Given the description of an element on the screen output the (x, y) to click on. 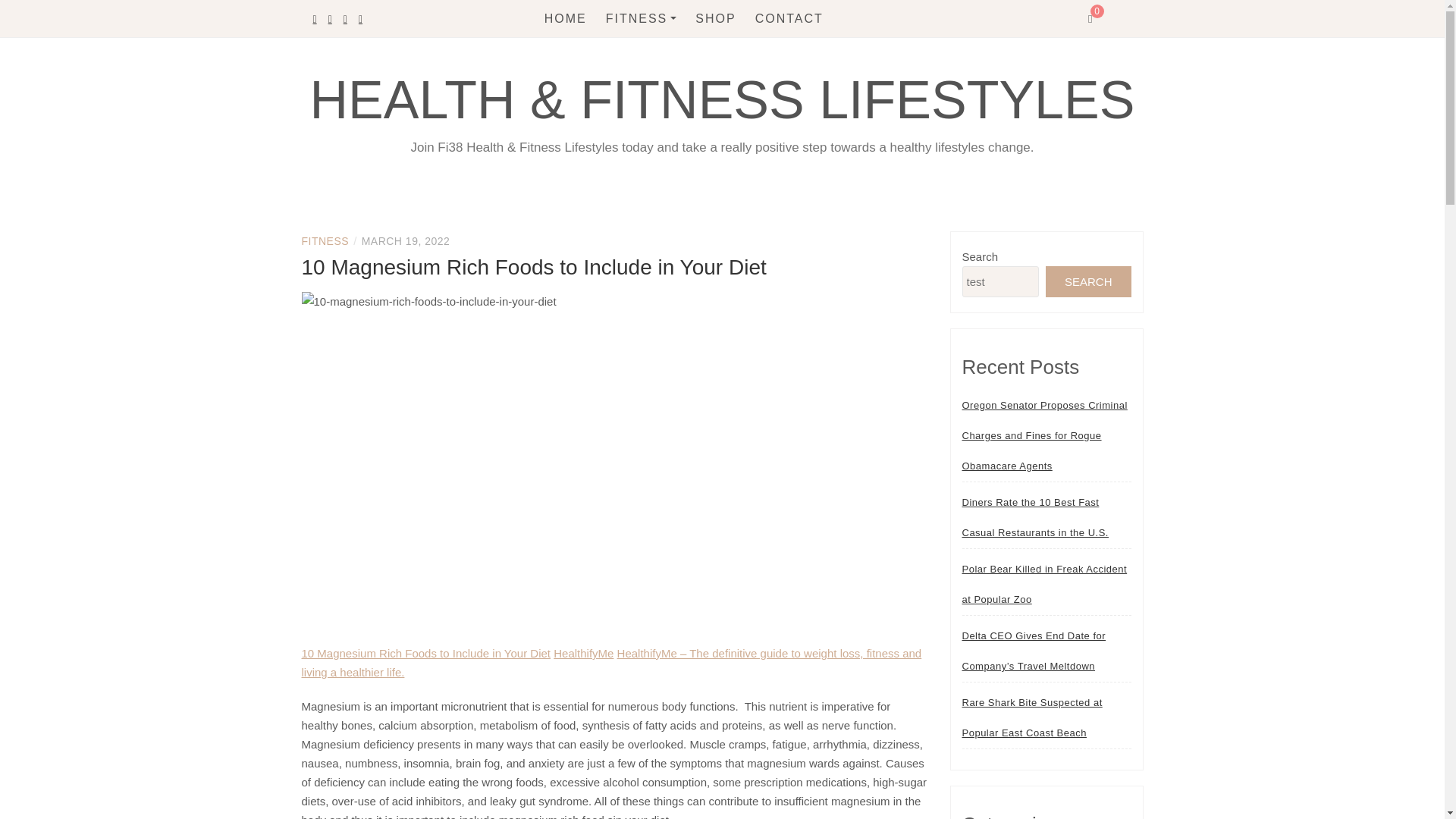
CONTACT (789, 18)
SHOP (715, 18)
Diners Rate the 10 Best Fast Casual Restaurants in the U.S. (1045, 517)
HOME (565, 18)
FITNESS NEWS (689, 83)
FITNESS (325, 241)
SEARCH (1088, 281)
FITNESS FOODS (689, 115)
HEALTH (689, 52)
Polar Bear Killed in Freak Accident at Popular Zoo (1045, 584)
HealthifyMe (582, 653)
FITNESS (641, 18)
10 Magnesium Rich Foods to Include in Your Diet (426, 653)
